Given the description of an element on the screen output the (x, y) to click on. 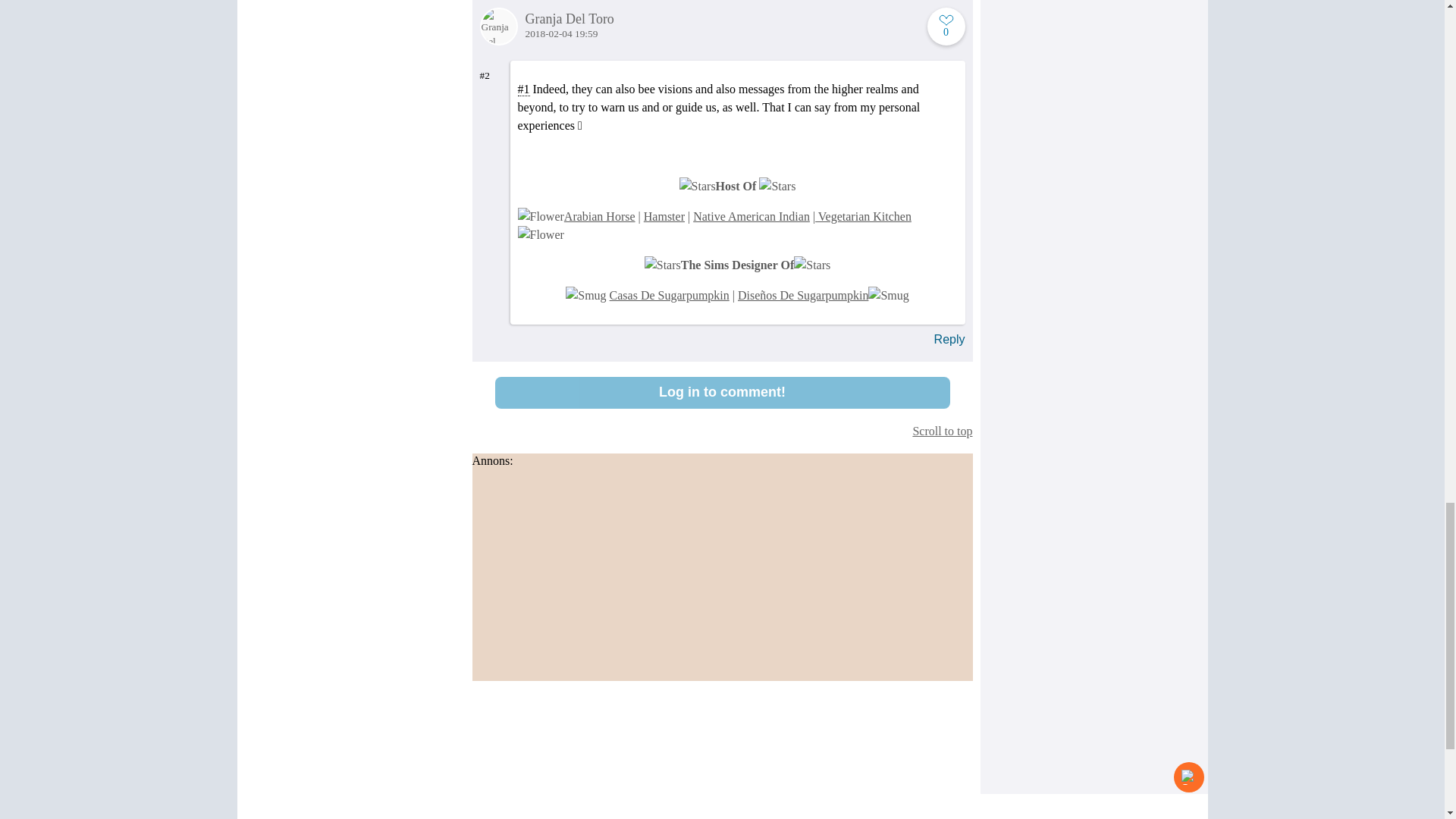
Casas De Sugarpumpkin (669, 295)
Vegetarian Kitchen (863, 215)
Scroll to top (721, 431)
Stars (697, 186)
Reply (949, 339)
Hamster (663, 215)
Scroll to top (721, 431)
Granja Del Toro (721, 19)
Arabian Horse (599, 215)
Native American Indian (751, 215)
Log in to comment! (722, 392)
